Given the description of an element on the screen output the (x, y) to click on. 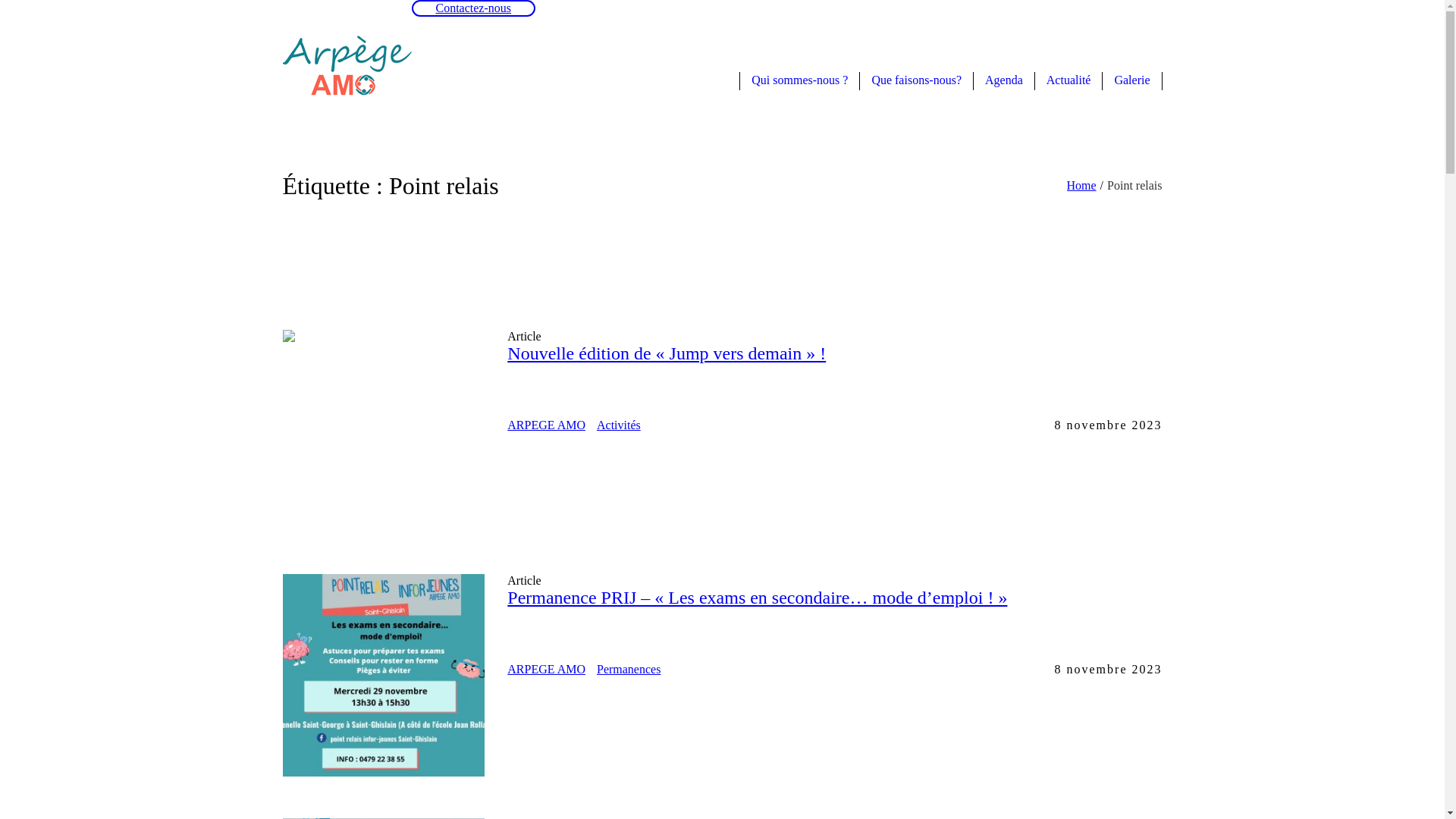
Permanences Element type: text (628, 668)
Que faisons-nous? Element type: text (915, 79)
Agenda Element type: text (1003, 79)
Home Element type: text (1080, 184)
Qui sommes-nous ? Element type: text (799, 79)
Contactez-nous Element type: text (473, 8)
ARPEGE AMO Element type: text (546, 668)
Galerie Element type: text (1131, 79)
ARPEGE AMO Element type: text (546, 424)
